Given the description of an element on the screen output the (x, y) to click on. 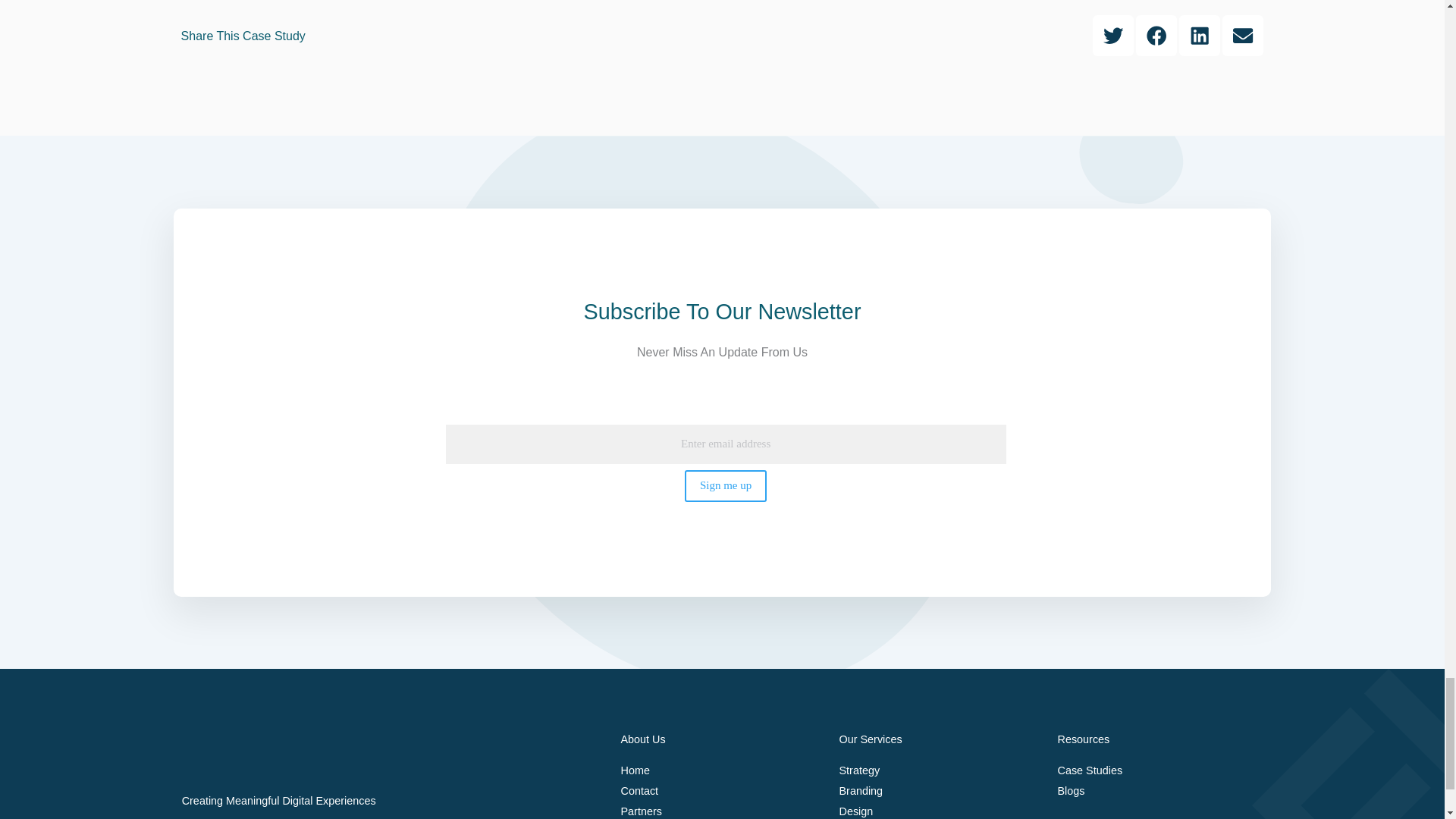
Sign me up (725, 486)
Partners (722, 810)
Sign me up (725, 486)
Home (722, 770)
Contact (722, 791)
Design (940, 810)
Strategy (940, 770)
Branding (940, 791)
